Given the description of an element on the screen output the (x, y) to click on. 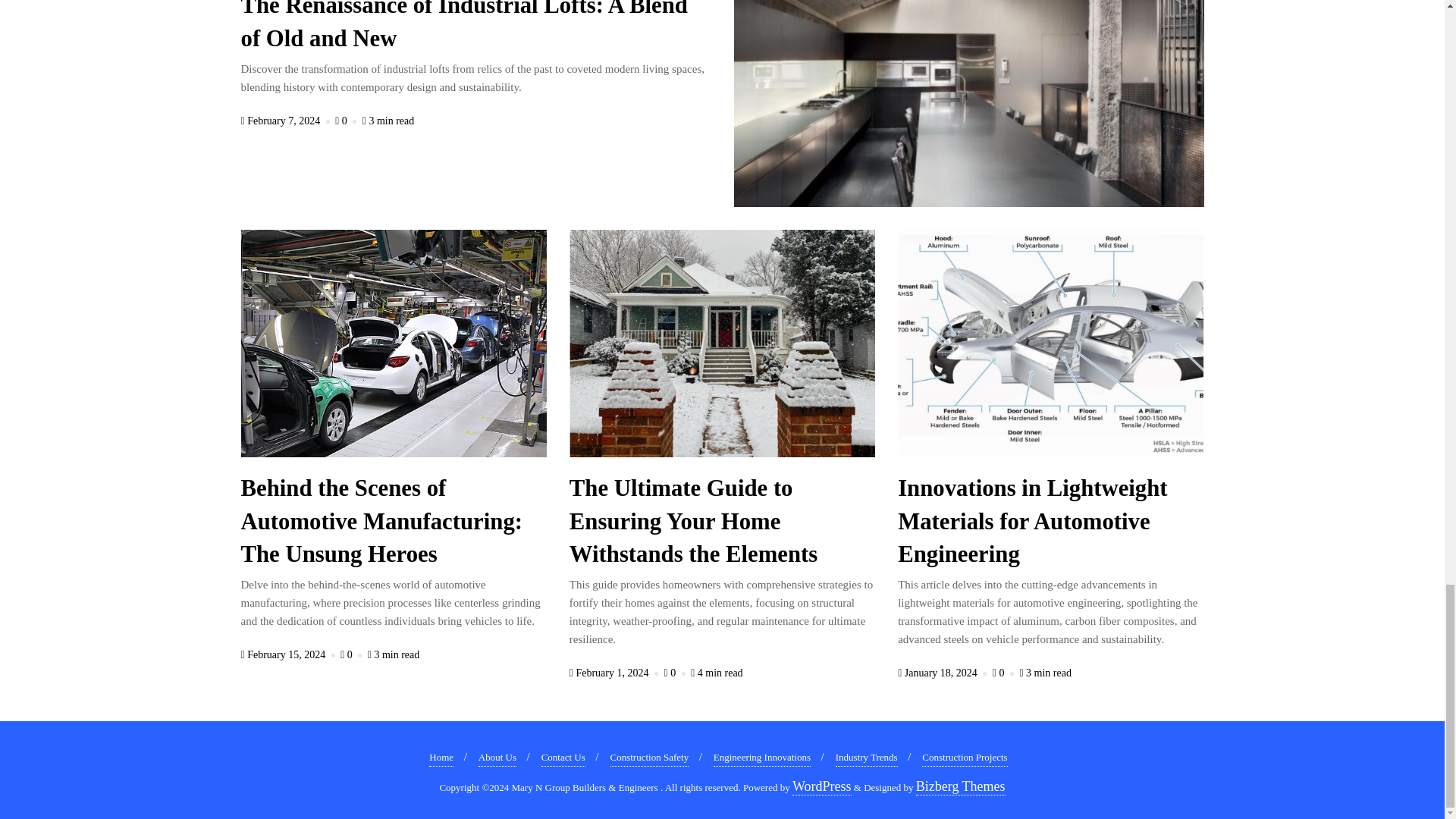
The Renaissance of Industrial Lofts: A Blend of Old and New (464, 28)
0 (346, 120)
February 7, 2024 (287, 120)
3 min read (388, 120)
